Given the description of an element on the screen output the (x, y) to click on. 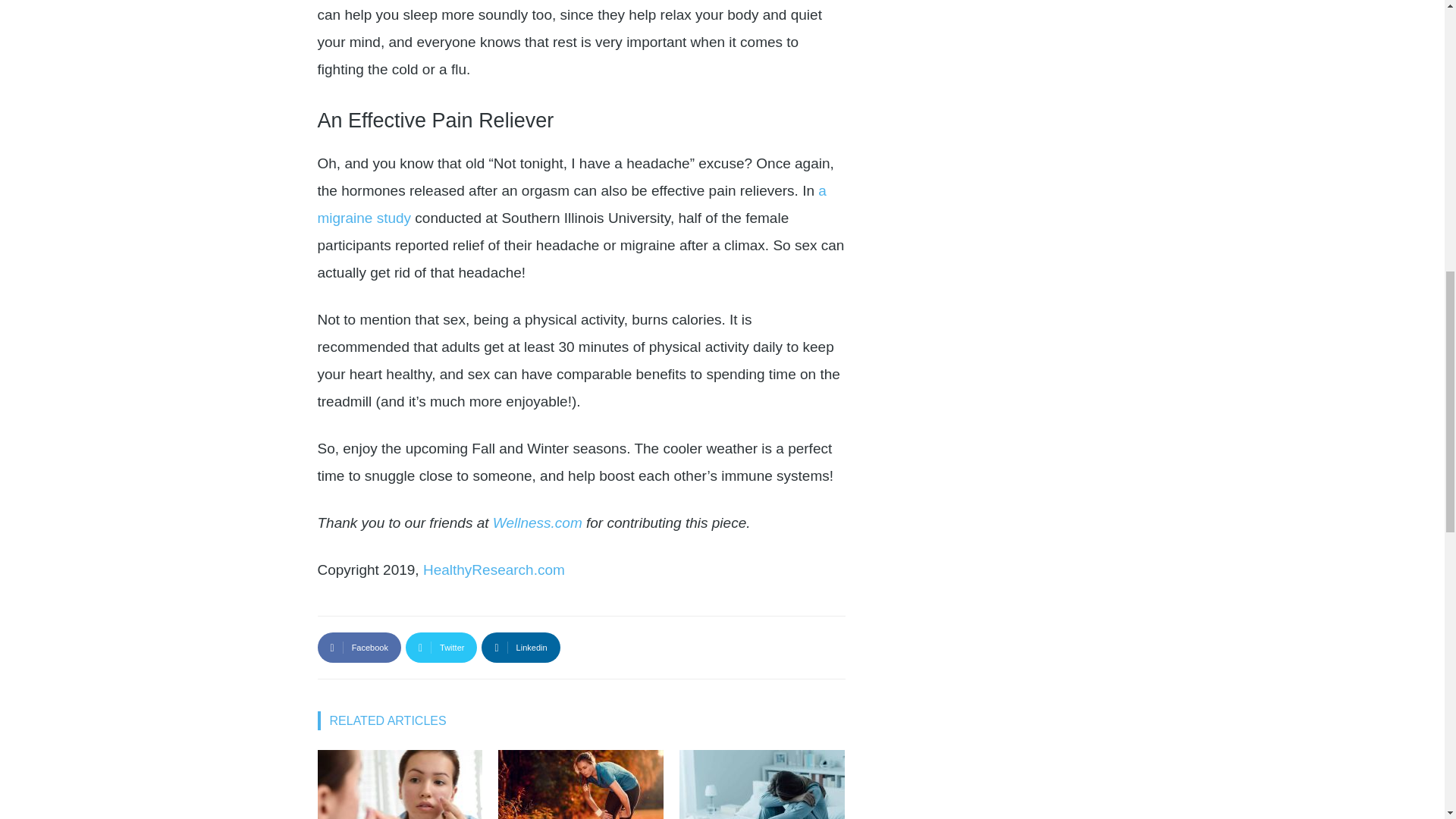
Linkedin (520, 647)
5 Most Common Sleep Problems and How to Overcome Them (761, 784)
RELATED ARTICLES (385, 720)
a migraine study  (571, 204)
Linkedin (520, 647)
Twitter (441, 647)
Twitter (441, 647)
Facebook (358, 647)
Facebook (358, 647)
HealthyResearch.com (493, 569)
Wellness.com (537, 522)
Skin-Care Hacks For A Clear Complexion (399, 784)
